Given the description of an element on the screen output the (x, y) to click on. 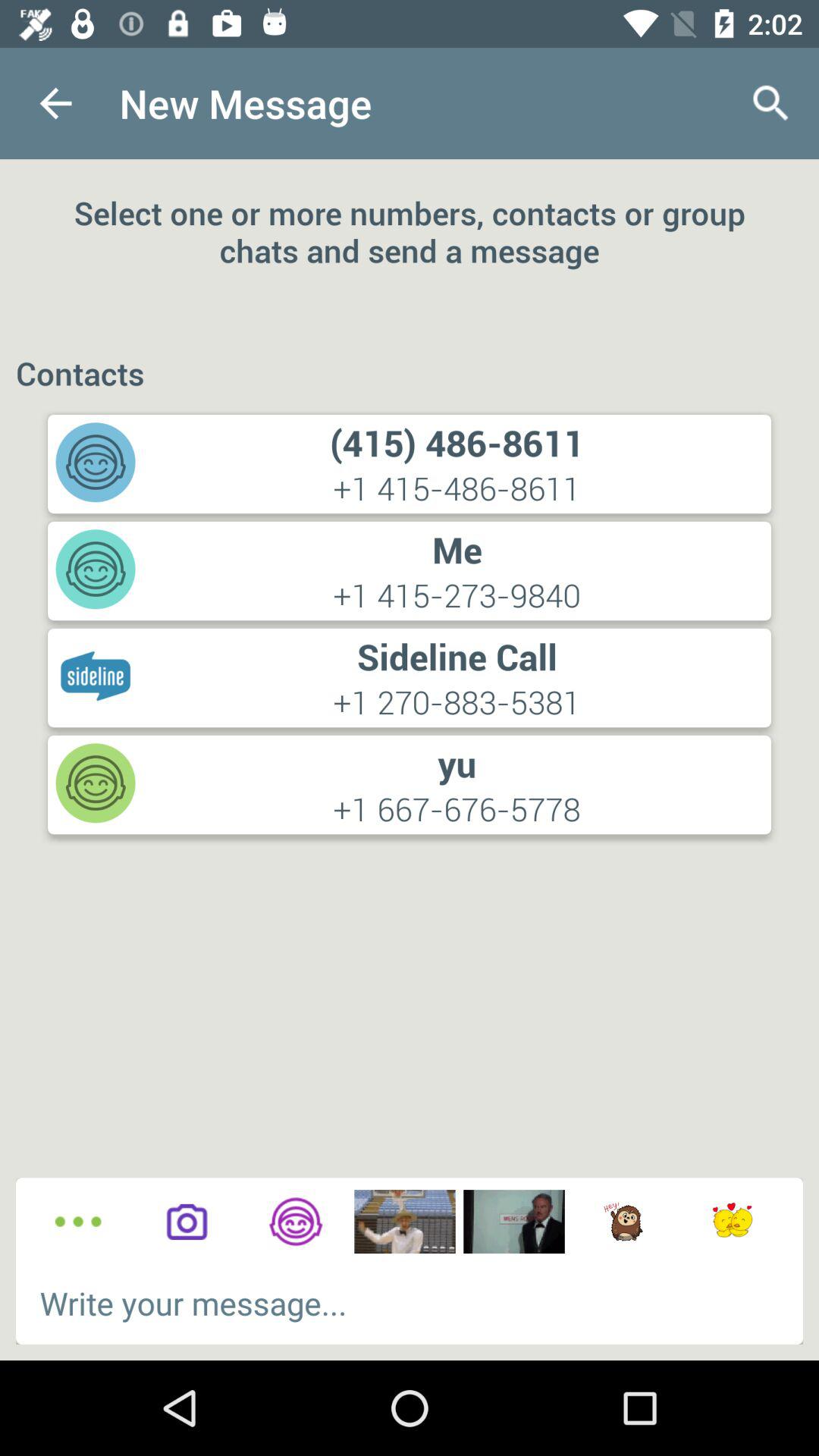
add recent sticker (732, 1221)
